Given the description of an element on the screen output the (x, y) to click on. 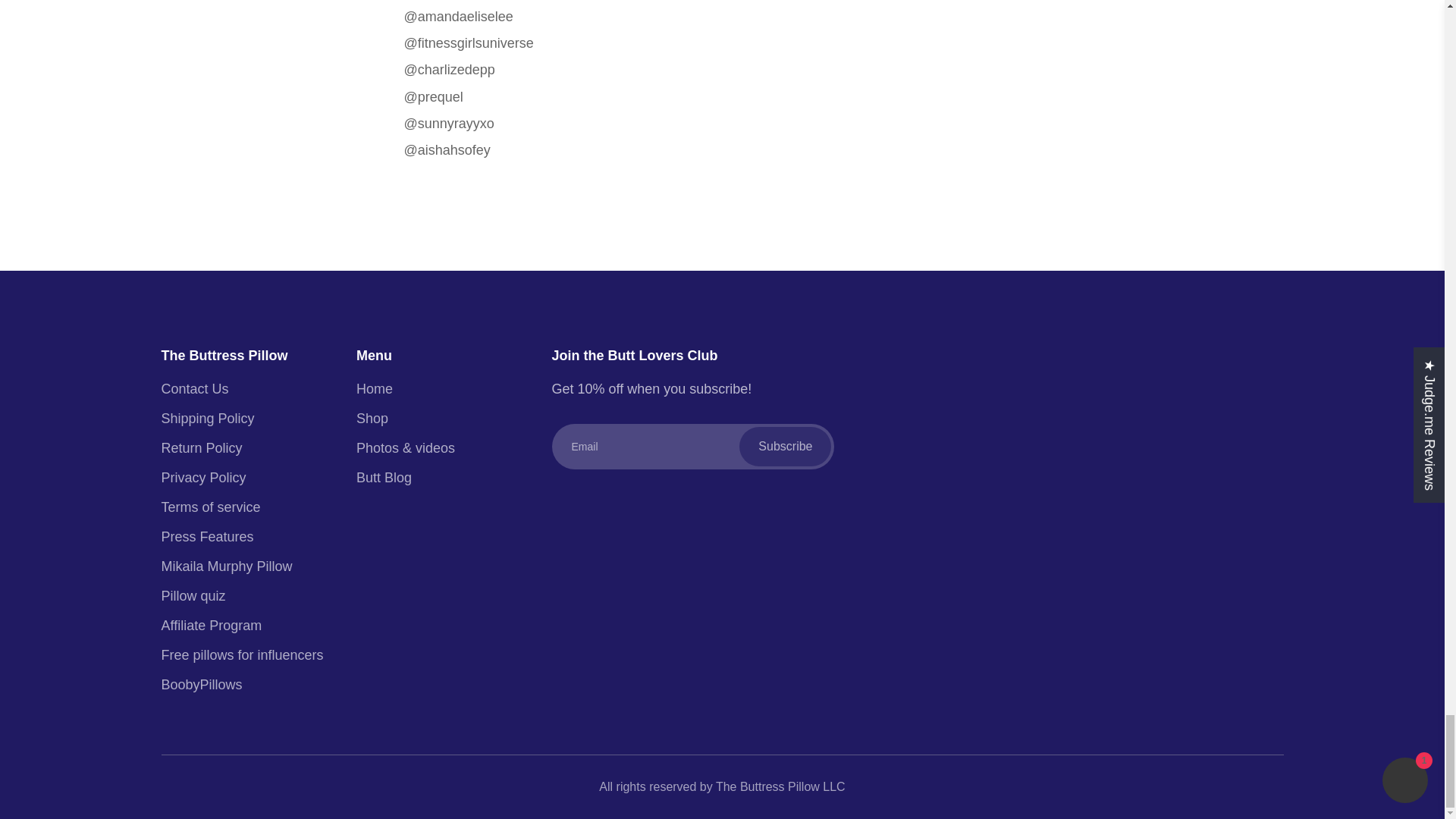
Subscribe (785, 446)
Butt Blog (440, 477)
Shipping Policy (244, 418)
Terms of service (244, 506)
Free pillows for influencers (244, 655)
Shop (440, 418)
Affiliate Program (244, 625)
Return Policy (244, 447)
BoobyPillows (244, 684)
Press Features (244, 536)
Pillow quiz (244, 596)
Home (440, 389)
Mikaila Murphy Pillow (244, 566)
Contact Us (244, 389)
Privacy Policy (244, 477)
